Given the description of an element on the screen output the (x, y) to click on. 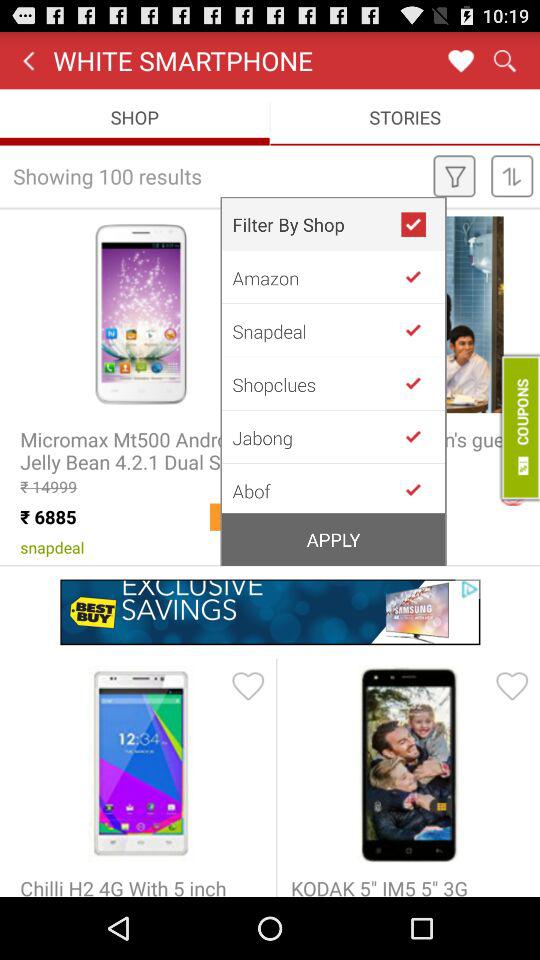
swipe until snapdeal (316, 330)
